Given the description of an element on the screen output the (x, y) to click on. 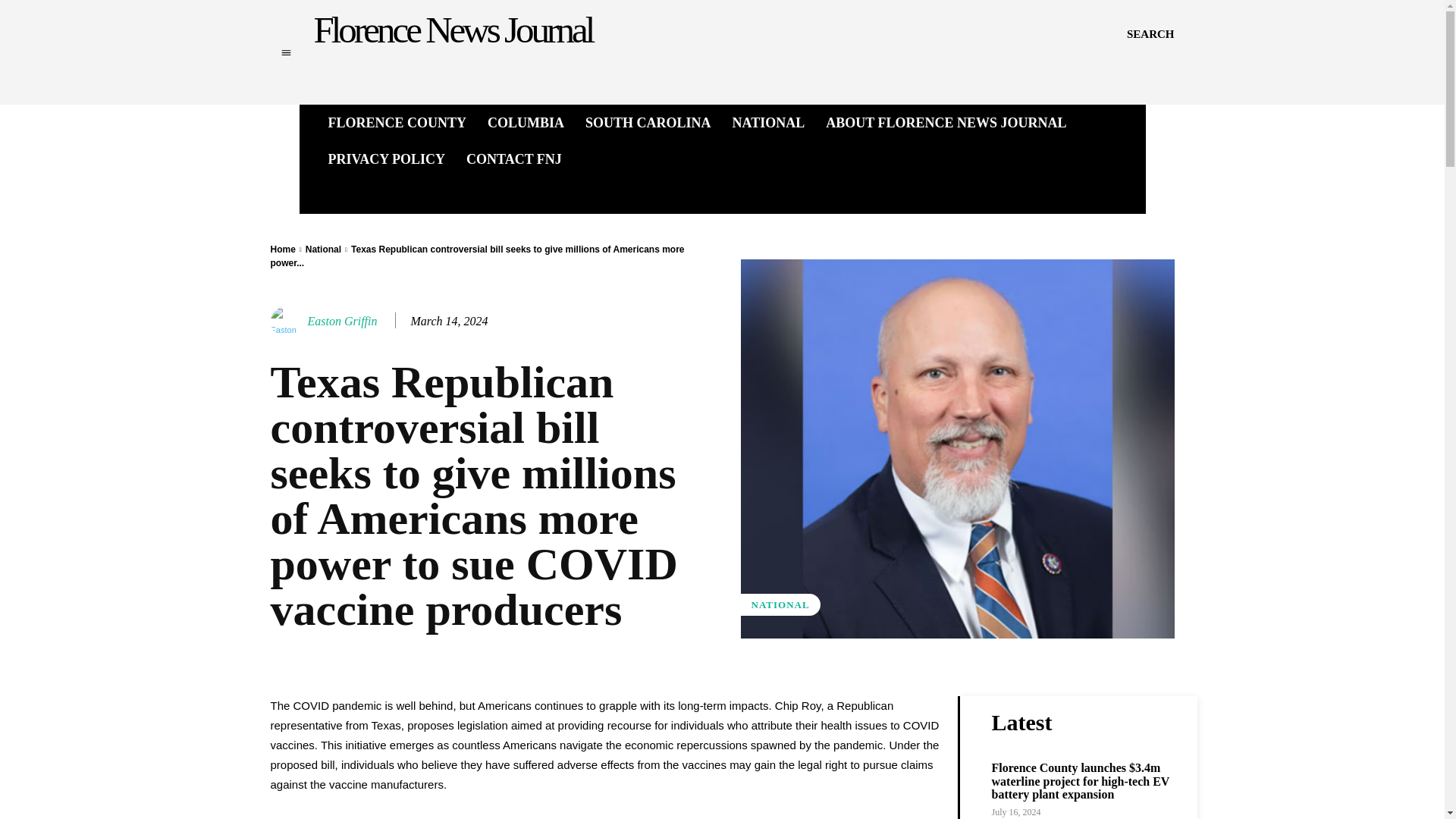
View all posts in National (322, 249)
